Given the description of an element on the screen output the (x, y) to click on. 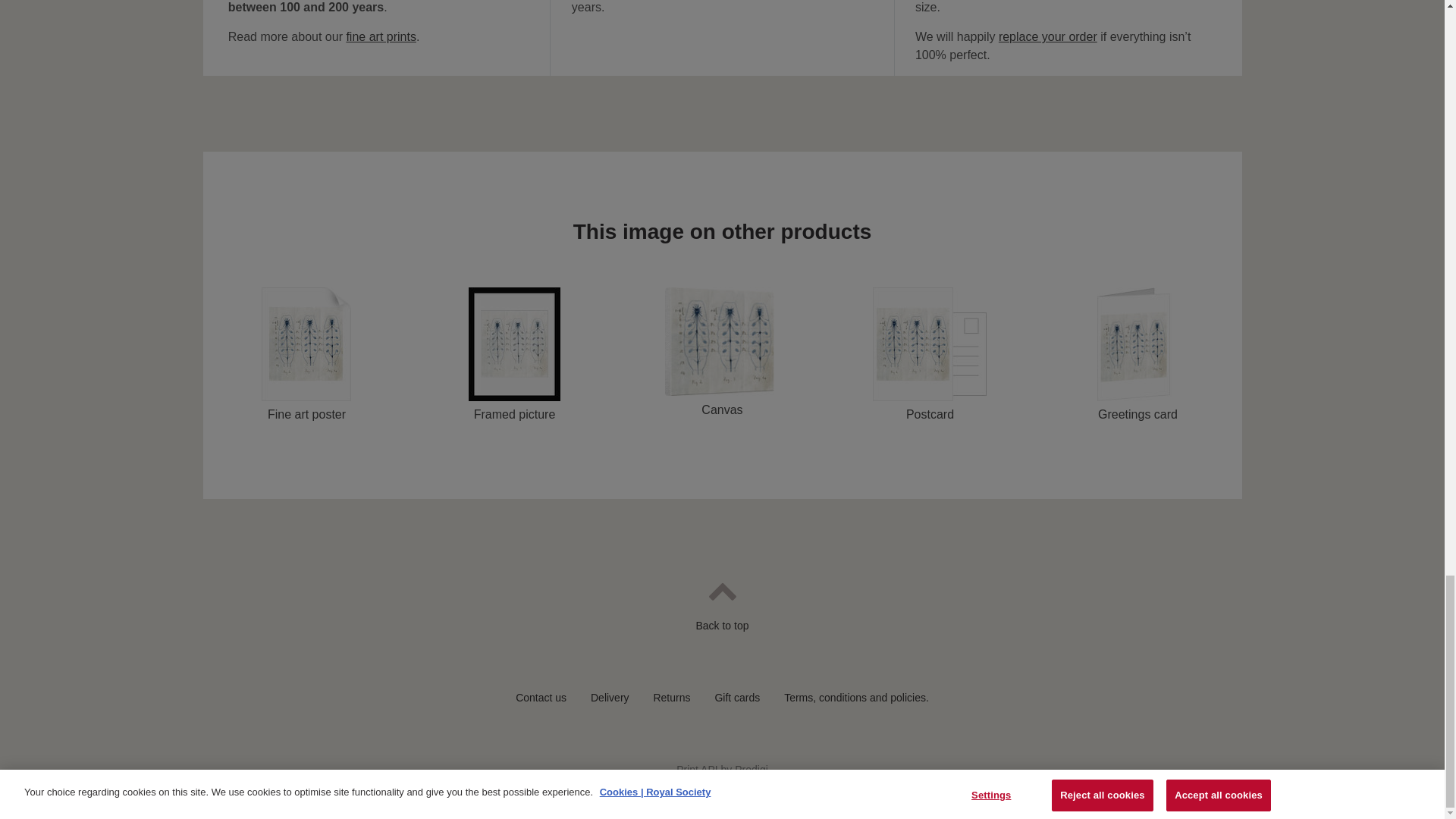
Delivery (609, 697)
replace your order (1047, 36)
Fine art poster (306, 355)
fine art prints (380, 36)
Canvas (721, 352)
Postcard (929, 355)
Back to top (721, 618)
Framed picture (514, 355)
Greetings card (1137, 355)
Returns (671, 697)
Contact us (540, 697)
